Given the description of an element on the screen output the (x, y) to click on. 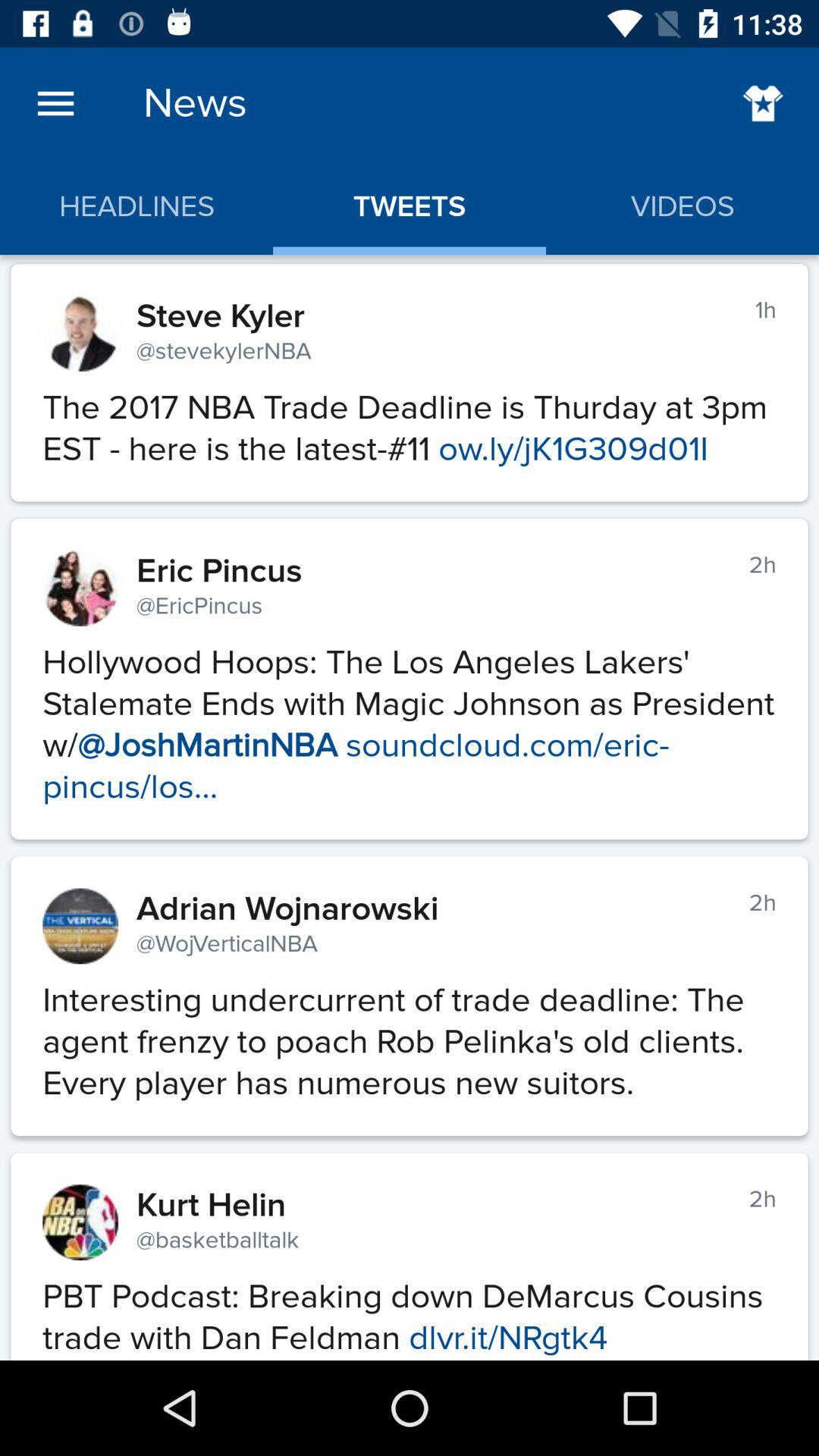
turn off the headlines app (136, 206)
